Given the description of an element on the screen output the (x, y) to click on. 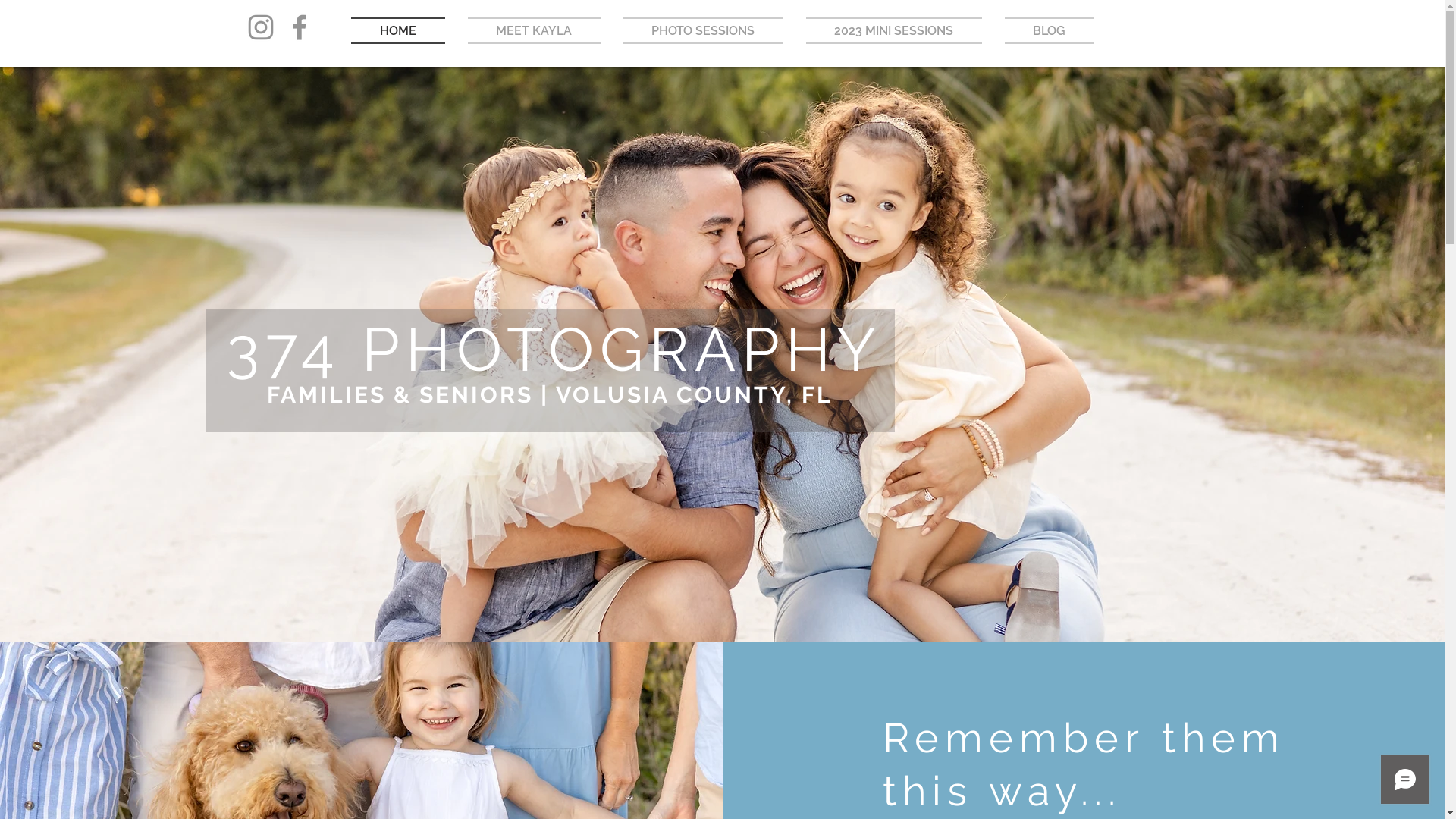
HOME Element type: text (402, 30)
374 PHOTOGRAPHY Element type: text (553, 349)
PHOTO SESSIONS Element type: text (702, 30)
BLOG Element type: text (1043, 30)
MEET KAYLA Element type: text (533, 30)
2023 MINI SESSIONS Element type: text (893, 30)
FAMILIES & SENIORS | VOLUSIA COUNTY, FL Element type: text (549, 394)
